Given the description of an element on the screen output the (x, y) to click on. 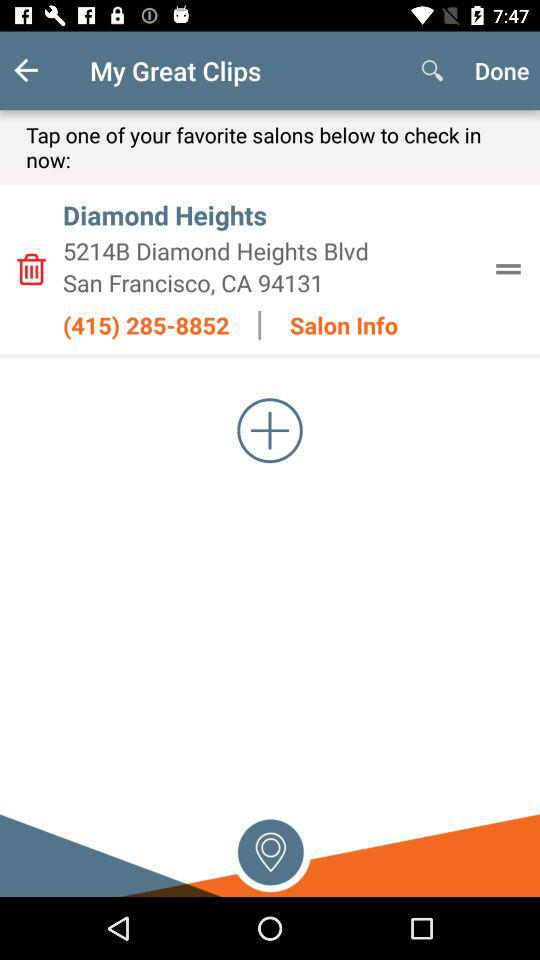
activate your location (270, 850)
